Given the description of an element on the screen output the (x, y) to click on. 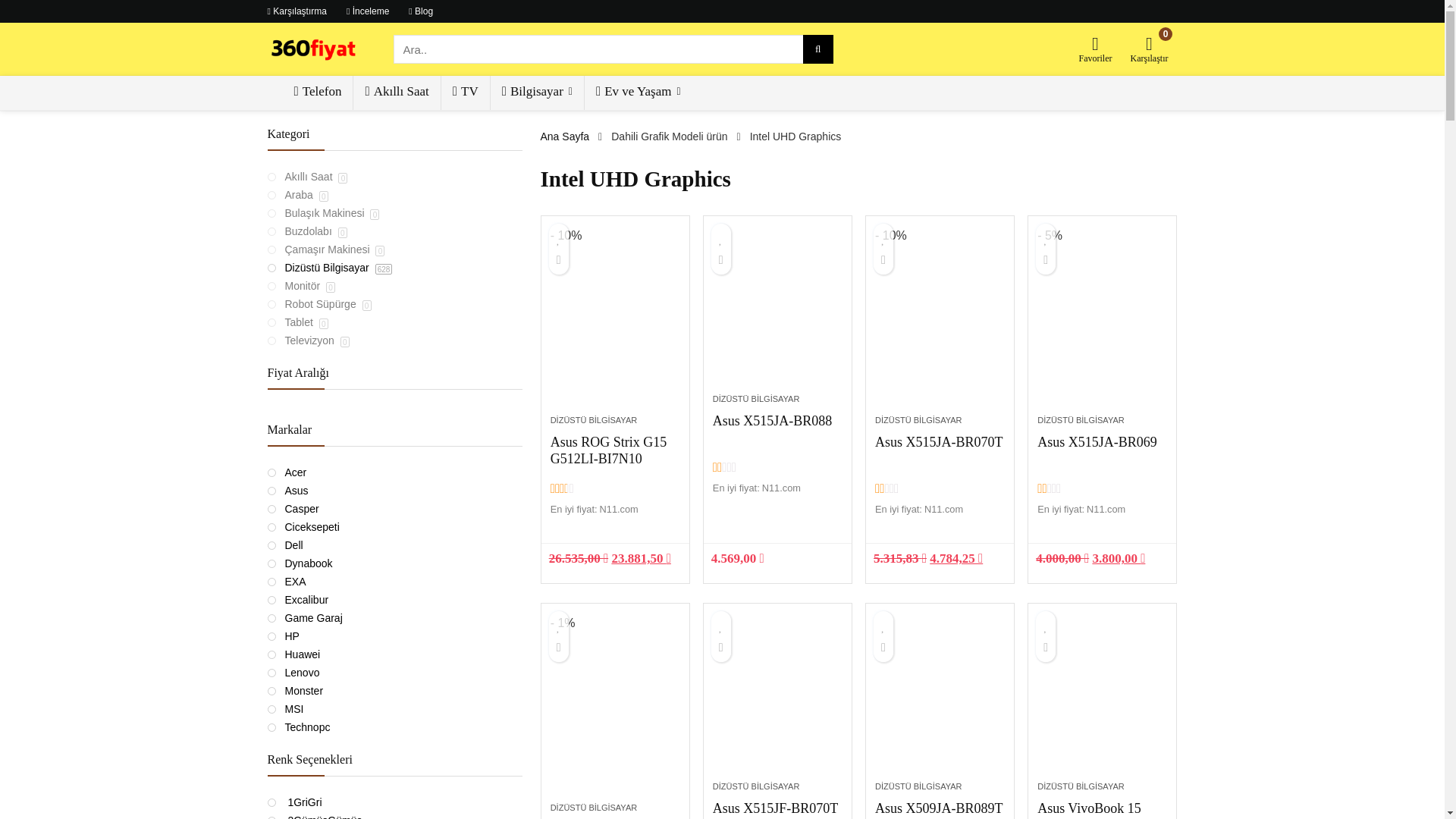
Ana Sayfa Element type: text (564, 136)
Asus ROG Strix G15 G512LI-BI7N10 Element type: hover (615, 333)
Asus X515JA-BR070T Element type: hover (939, 333)
Telefon Element type: text (317, 92)
Asus X515JA-BR069 Element type: hover (1102, 333)
Asus ExpertBook P2451FA-BV0204-TR Element type: hover (615, 720)
Asus X515JF-BR070T Element type: text (775, 807)
Asus X515JA-BR070T Element type: text (939, 441)
Bilgisayar Element type: text (536, 92)
Asus X515JA-BR069 Element type: text (1097, 441)
Asus VivoBook 15 X571LI-AL080 Element type: hover (1102, 699)
Asus ROG Strix G15 G512LI-BI7N10 Element type: text (608, 450)
Asus X509JA-BR089T Element type: hover (939, 699)
Blog Element type: text (420, 11)
Asus X515JA-BR088 Element type: text (772, 420)
Asus X509JA-BR089T Element type: text (939, 807)
TV Element type: text (465, 92)
Asus X515JF-BR070T Element type: hover (777, 699)
Asus X515JA-BR088 Element type: hover (777, 312)
